Given the description of an element on the screen output the (x, y) to click on. 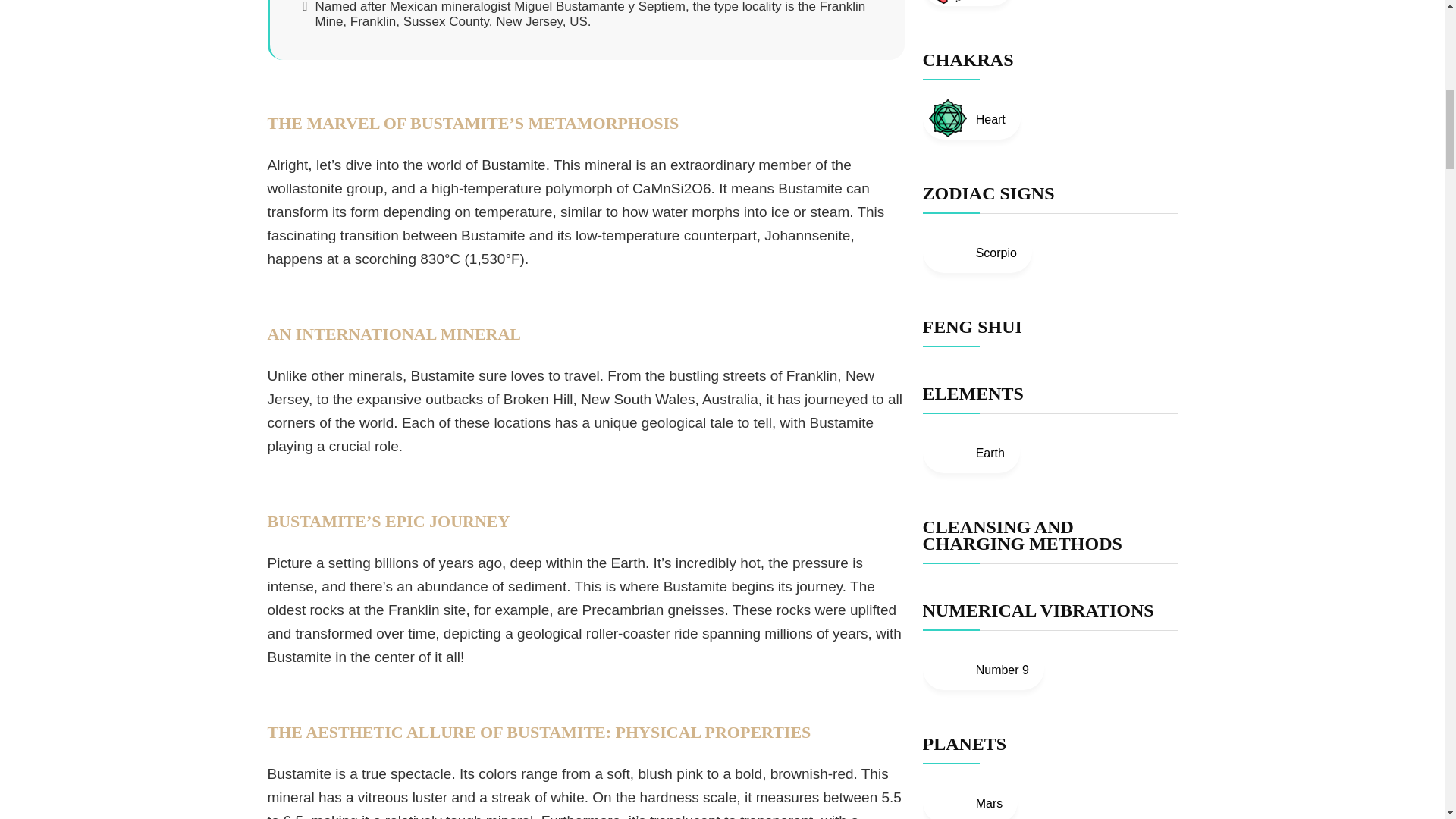
Red (967, 2)
Earth (970, 451)
ELEMENTS (972, 393)
CLEANSING AND CHARGING METHODS (1021, 534)
ZODIAC SIGNS (987, 193)
Heart (970, 118)
CHAKRAS (967, 59)
Scorpio (975, 251)
FENG SHUI (971, 326)
